Given the description of an element on the screen output the (x, y) to click on. 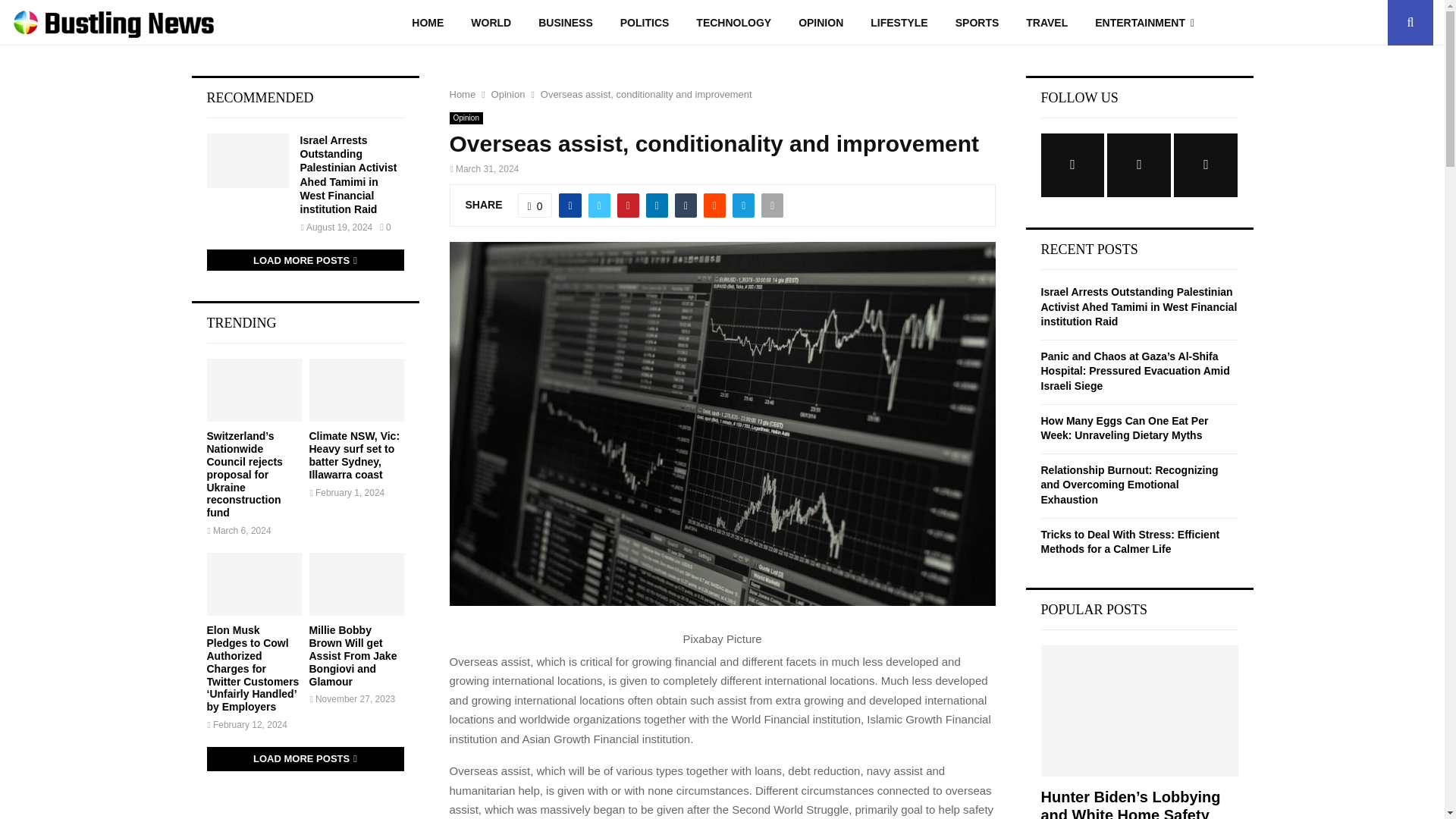
Like (535, 205)
ENTERTAINMENT (1144, 22)
Opinion (464, 118)
BUSINESS (565, 22)
TRAVEL (1046, 22)
HOME (427, 22)
POLITICS (644, 22)
SPORTS (977, 22)
Opinion (508, 93)
WORLD (490, 22)
